Given the description of an element on the screen output the (x, y) to click on. 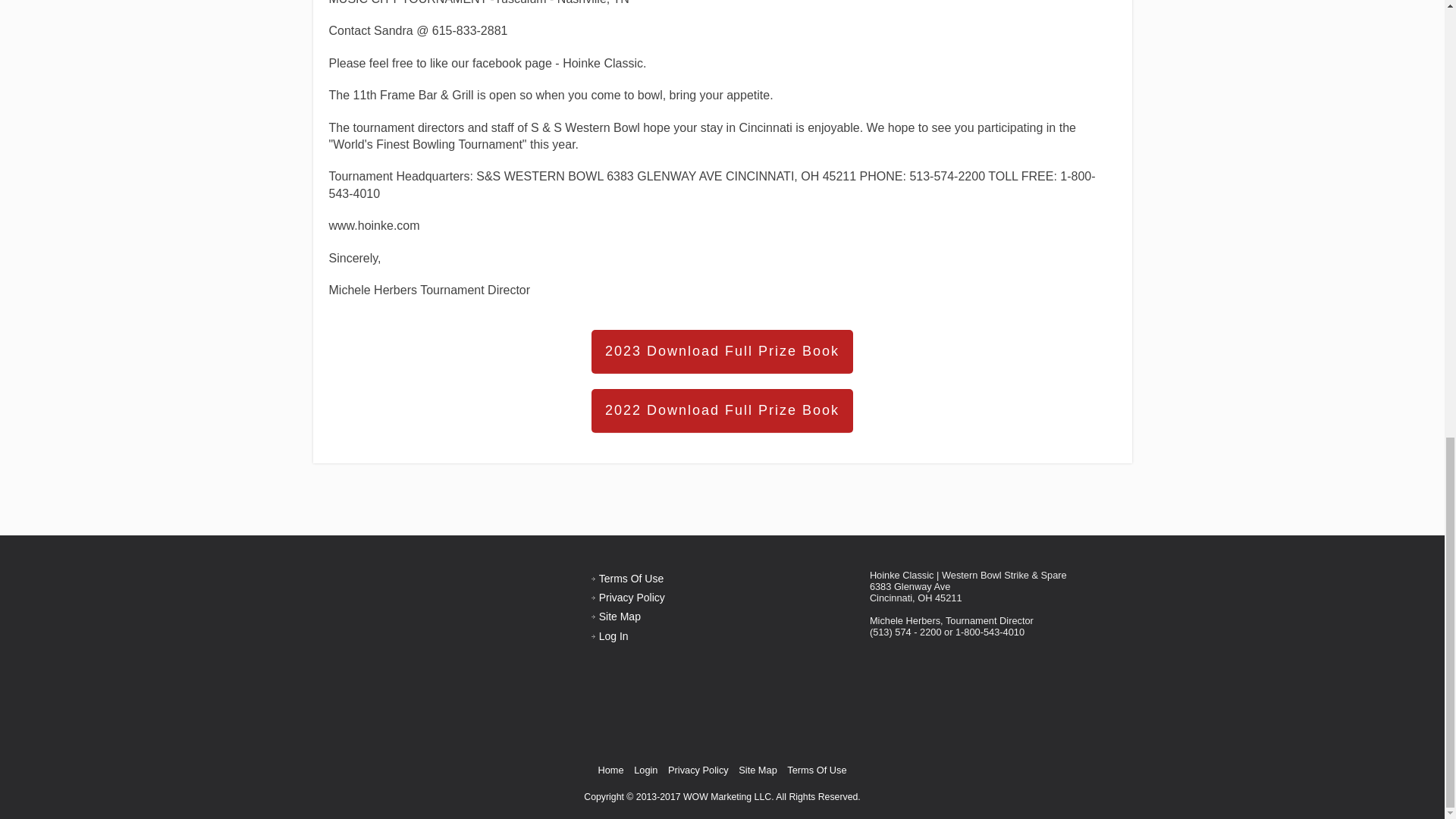
Site Map (619, 616)
Terms Of Use (630, 577)
Login (645, 769)
Home (609, 769)
Privacy Policy (631, 597)
Terms Of Use (816, 769)
2022 Download Full Prize Book (722, 411)
2023 Download Full Prize Book (722, 351)
Log In (613, 635)
Privacy Policy (698, 769)
Site Map (757, 769)
